Given the description of an element on the screen output the (x, y) to click on. 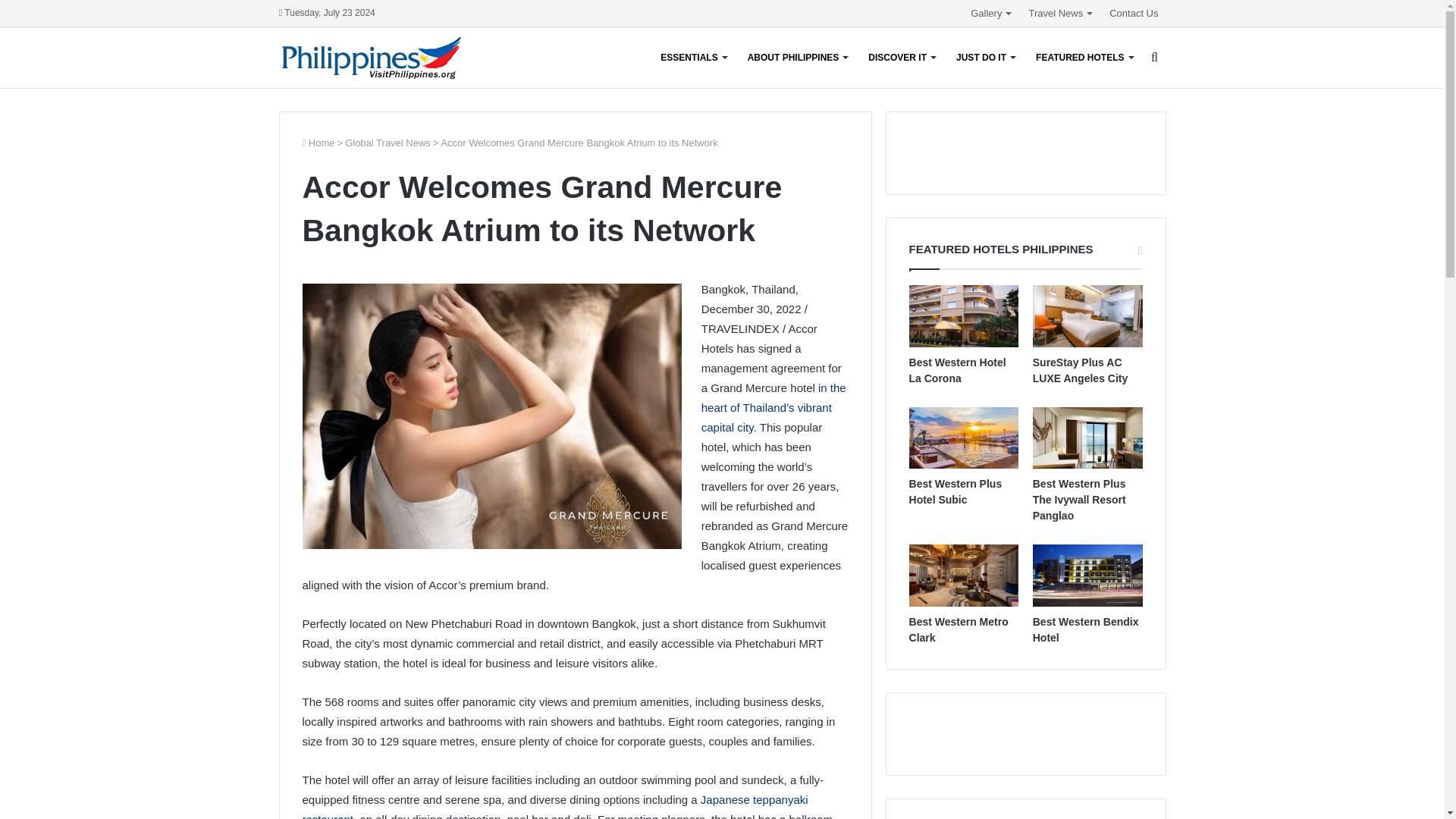
Contact Us (1134, 13)
ESSENTIALS (692, 57)
Gallery (991, 13)
Tourism Sri Lanka (371, 57)
ABOUT PHILIPPINES (797, 57)
Travel News (1061, 13)
